Given the description of an element on the screen output the (x, y) to click on. 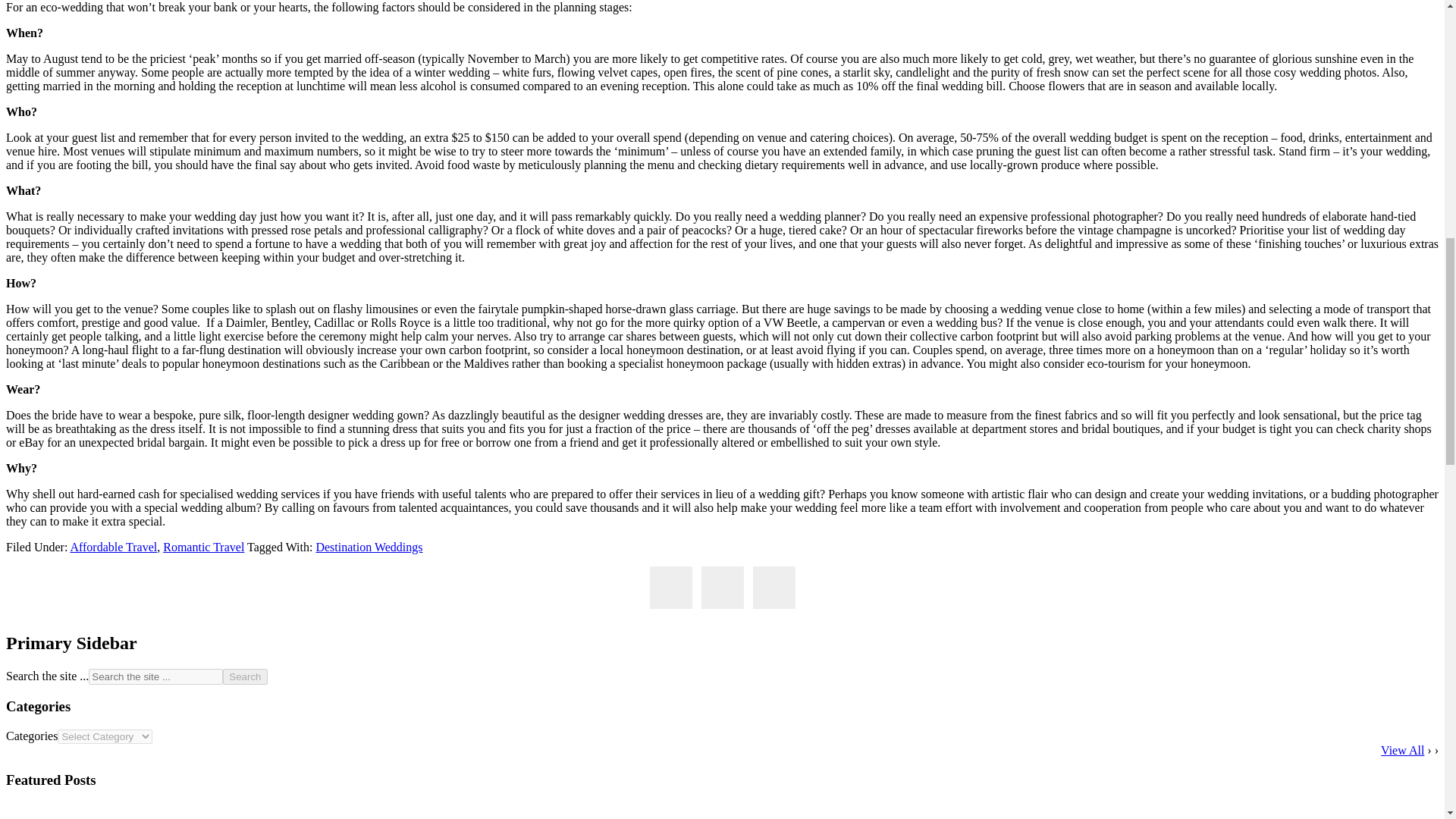
Search (244, 676)
Search (244, 676)
View All (1401, 749)
Destination Weddings (368, 546)
Romantic Travel (203, 546)
Affordable Travel (113, 546)
Search (244, 676)
